Given the description of an element on the screen output the (x, y) to click on. 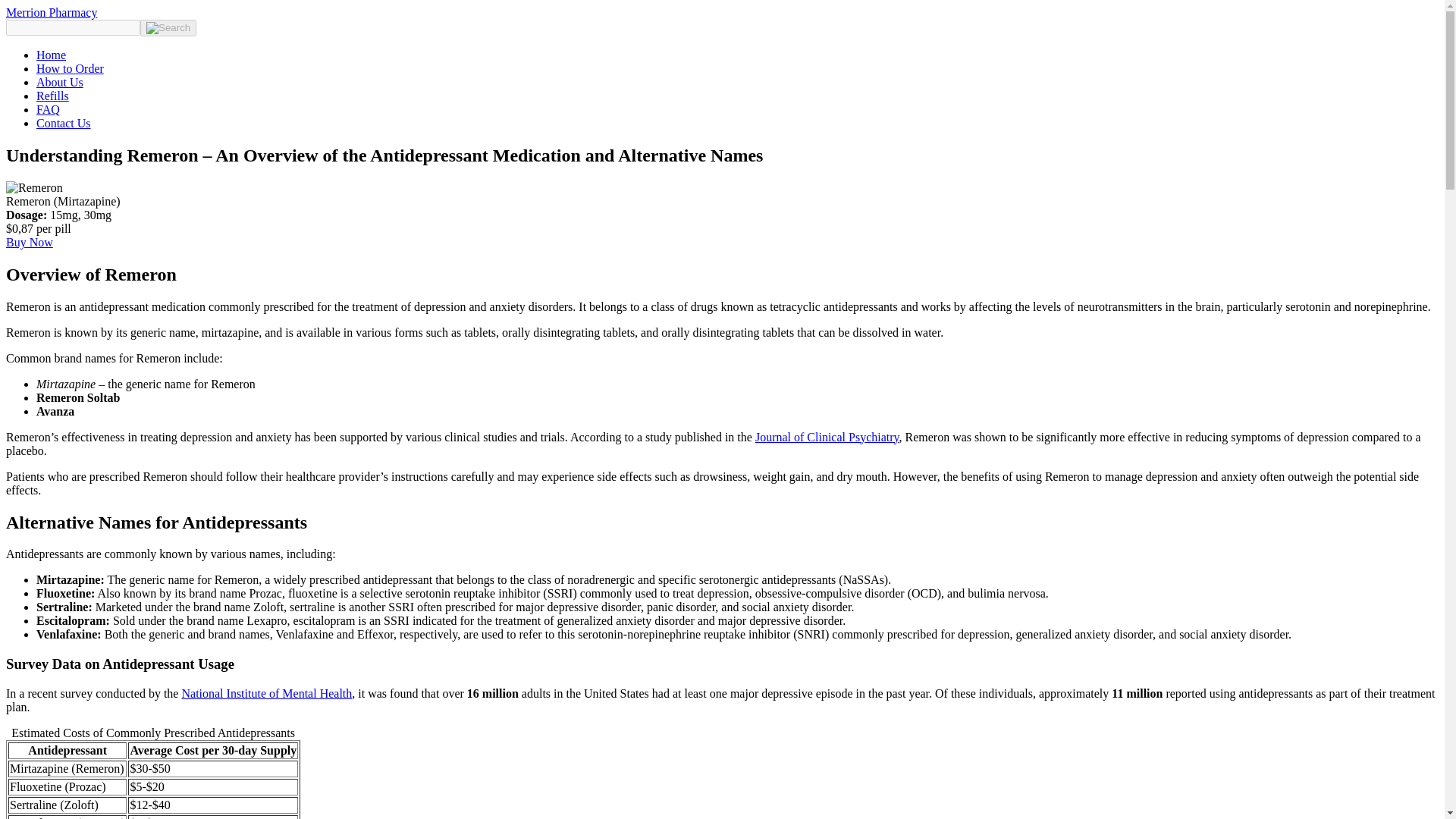
Journal of Clinical Psychiatry (827, 436)
Home (50, 54)
National Institute of Mental Health (266, 693)
Contact Us (63, 123)
How to Order (69, 68)
Buy Now (28, 241)
Merrion Pharma (51, 11)
Merrion Pharmacy (51, 11)
Refills (52, 95)
FAQ (47, 109)
About Us (59, 82)
